Given the description of an element on the screen output the (x, y) to click on. 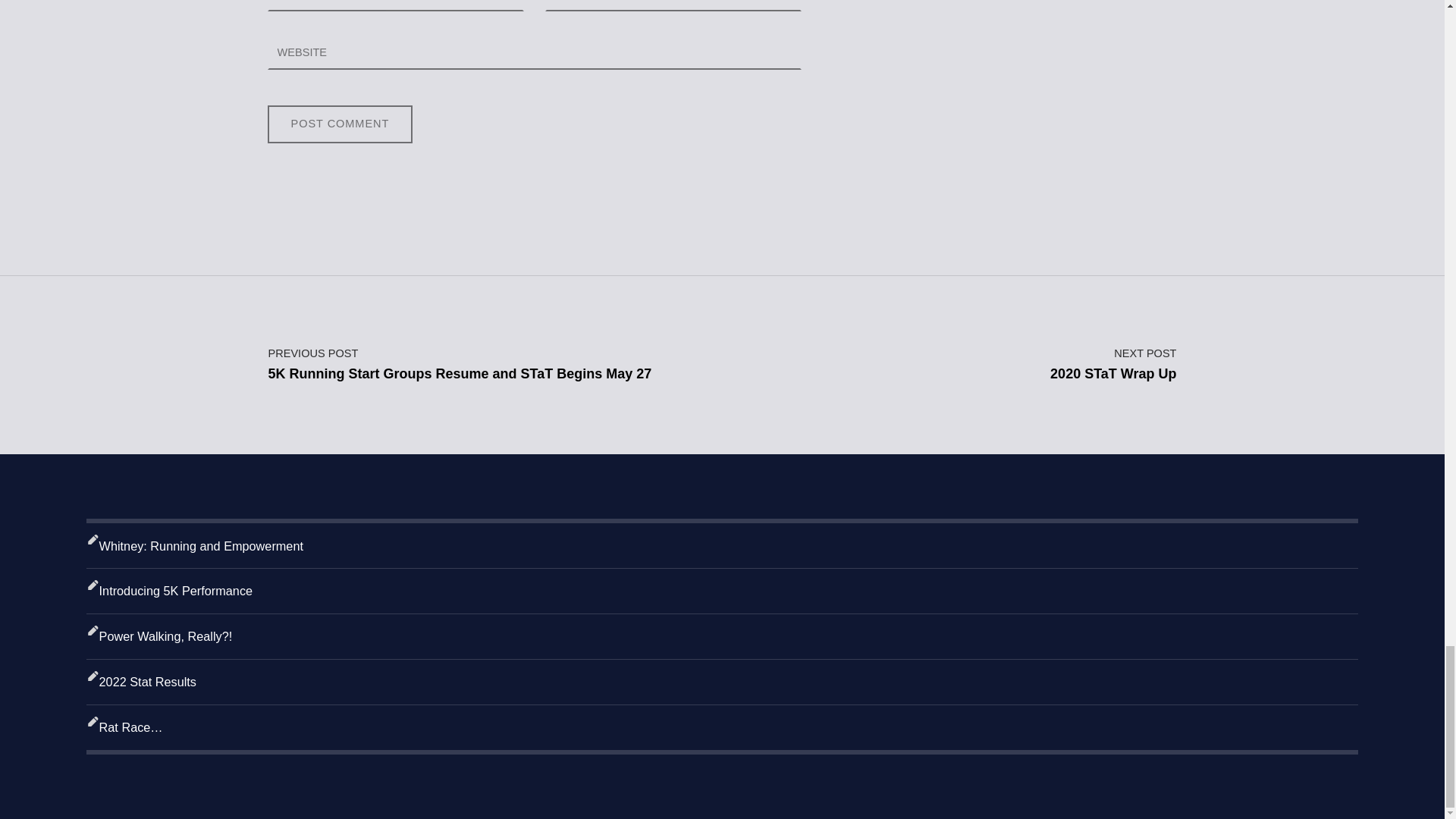
Post Comment (339, 124)
